Given the description of an element on the screen output the (x, y) to click on. 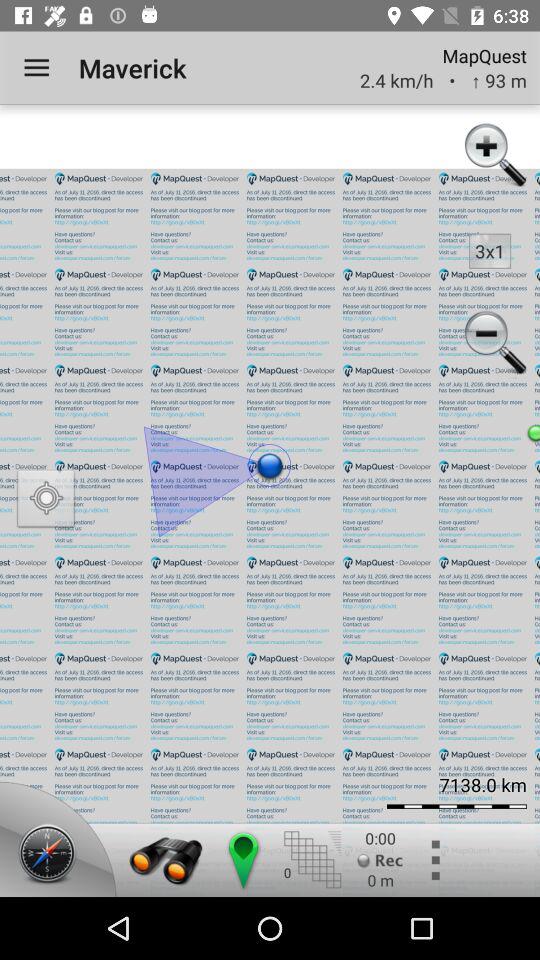
drop location (242, 860)
